Given the description of an element on the screen output the (x, y) to click on. 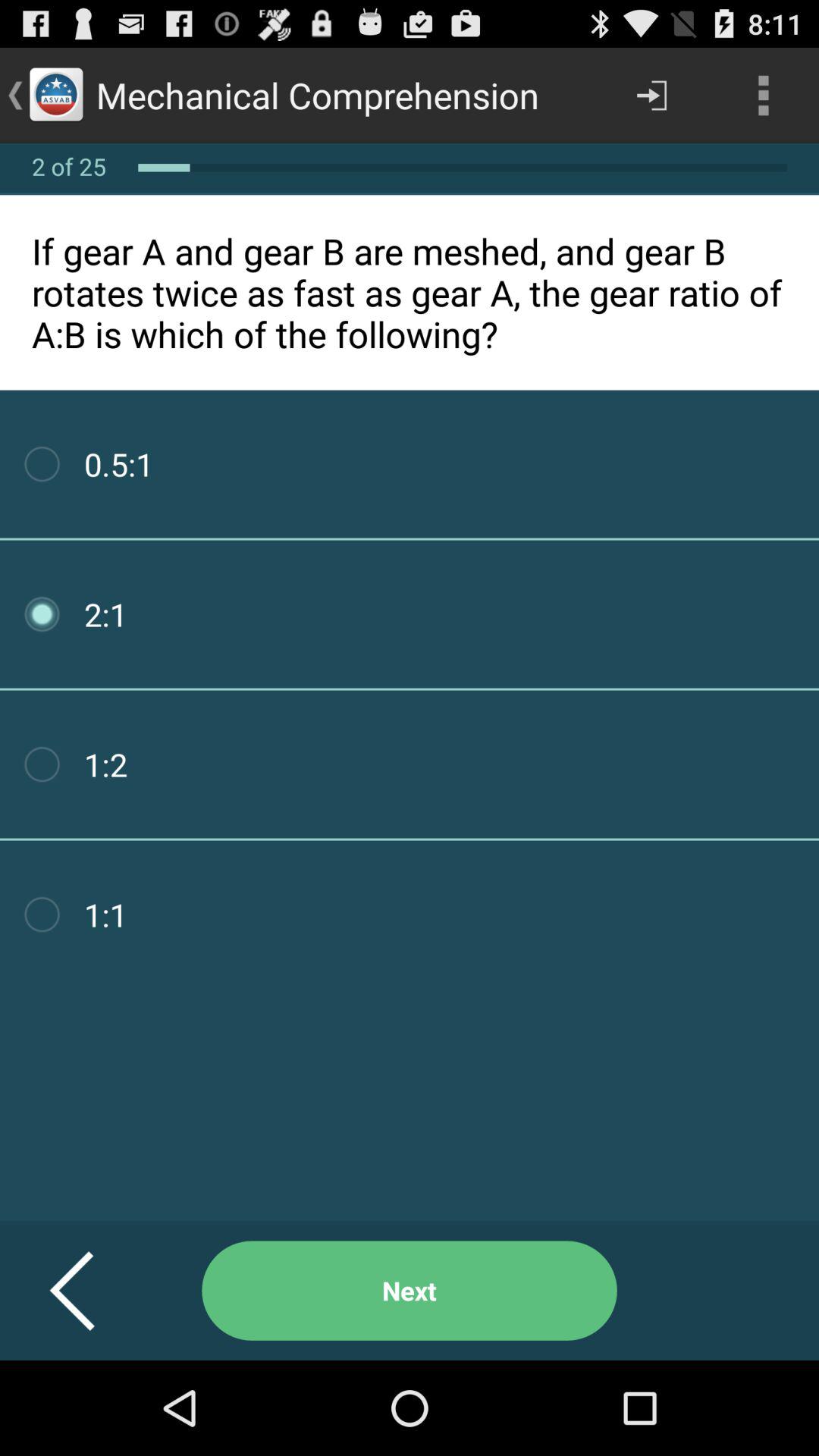
turn on the button at the bottom (409, 1290)
